Given the description of an element on the screen output the (x, y) to click on. 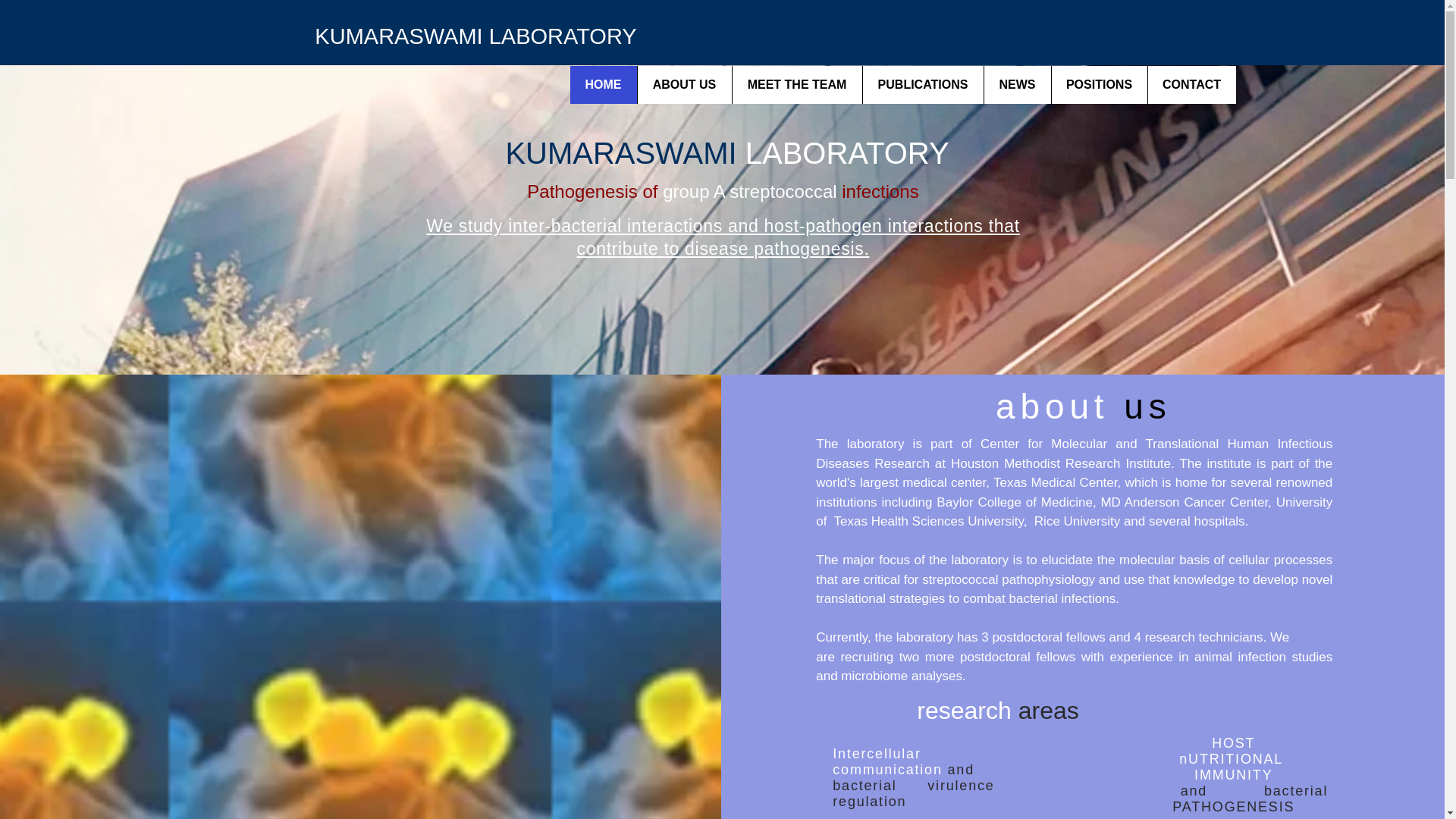
ABOUT US (684, 85)
CONTACT (1190, 85)
HOME (603, 85)
PUBLICATIONS (921, 85)
MEET THE TEAM (795, 85)
POSITIONS (1099, 85)
NEWS (1015, 85)
